Given the description of an element on the screen output the (x, y) to click on. 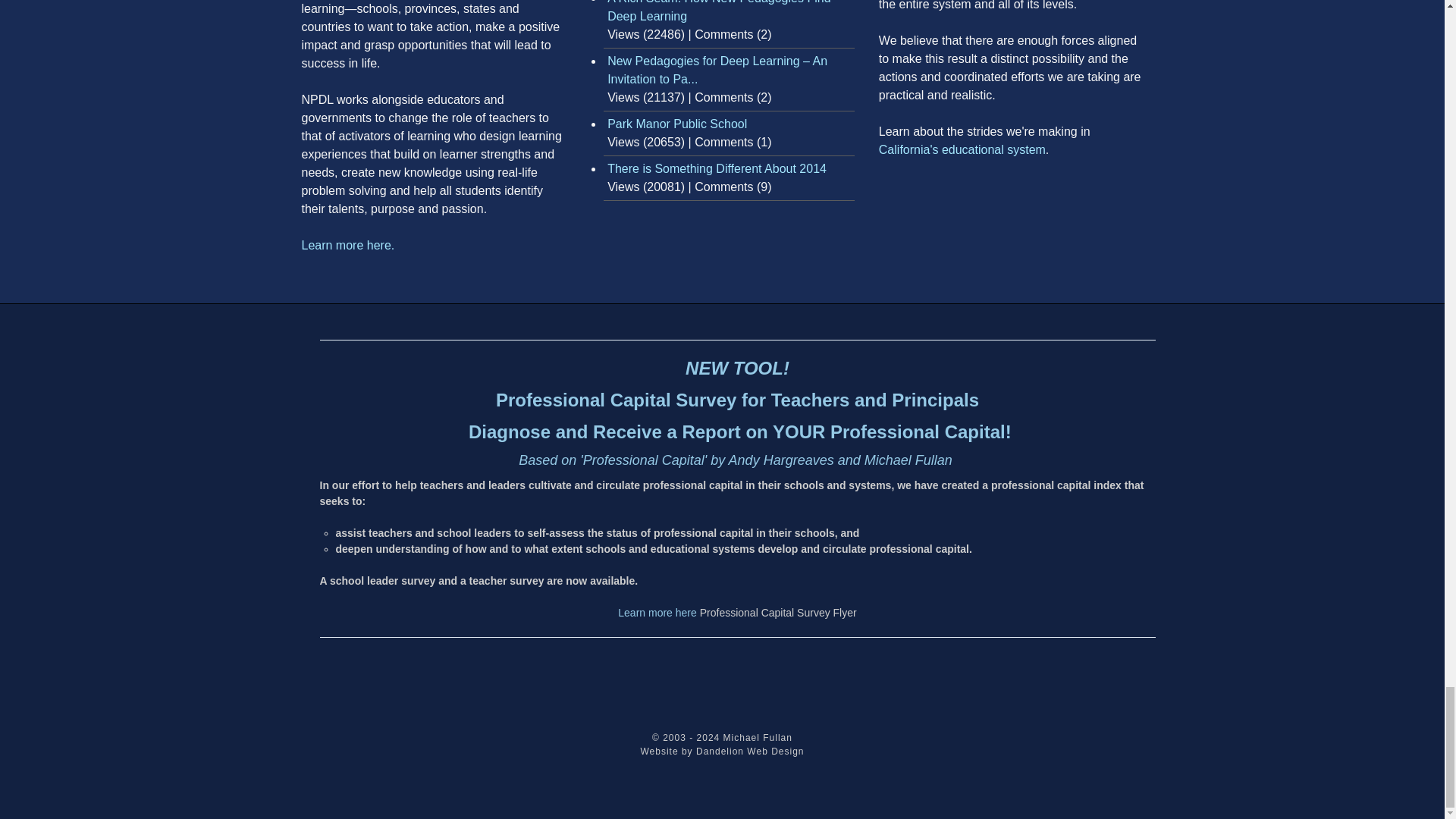
There is Something Different About 2014 (717, 168)
Park Manor Public School (676, 123)
Michael Fullan (757, 737)
A Rich Seam: How New Pedagogies Find Deep Learning (718, 11)
